Given the description of an element on the screen output the (x, y) to click on. 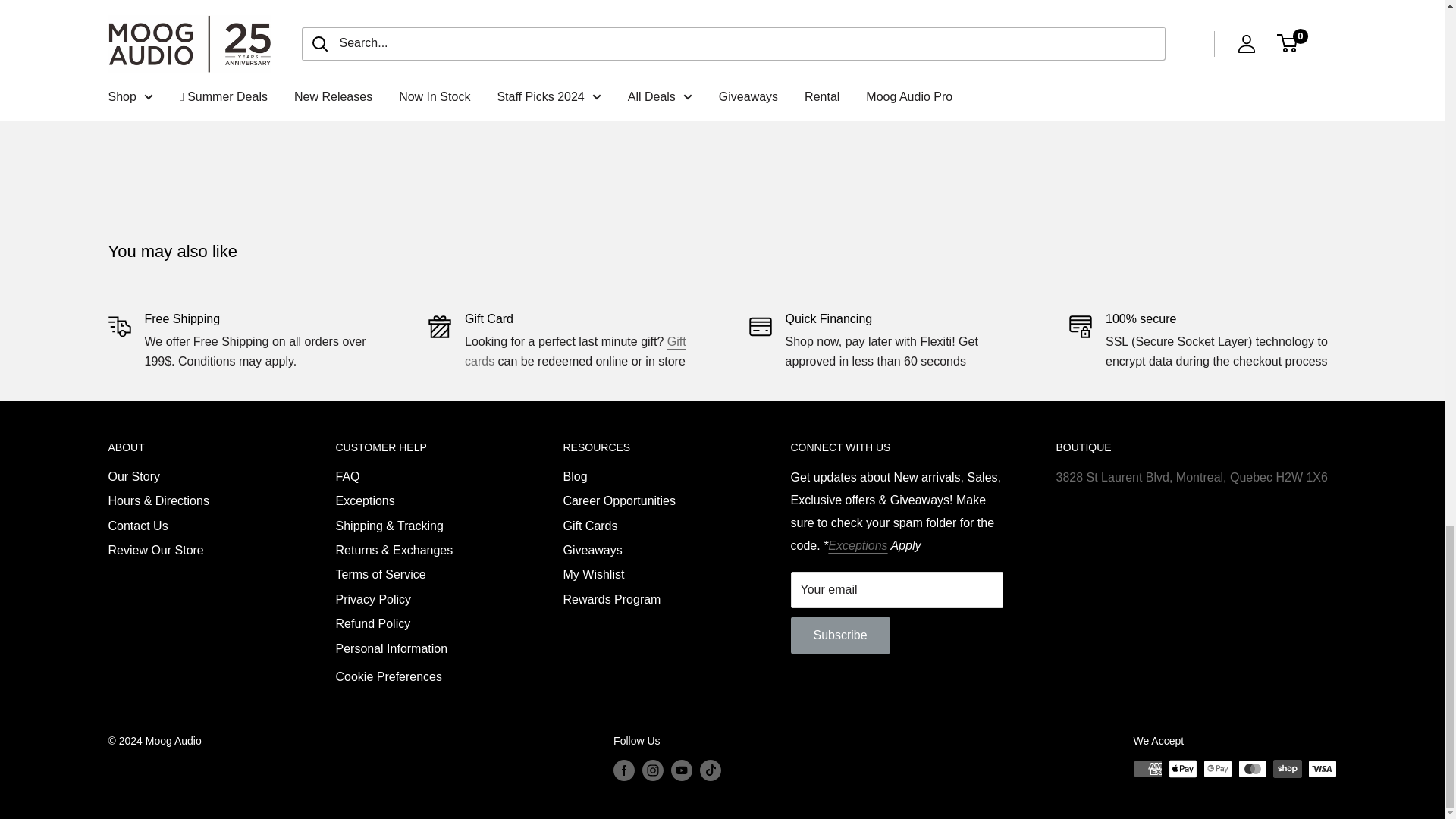
Gift Cards (574, 350)
